Given the description of an element on the screen output the (x, y) to click on. 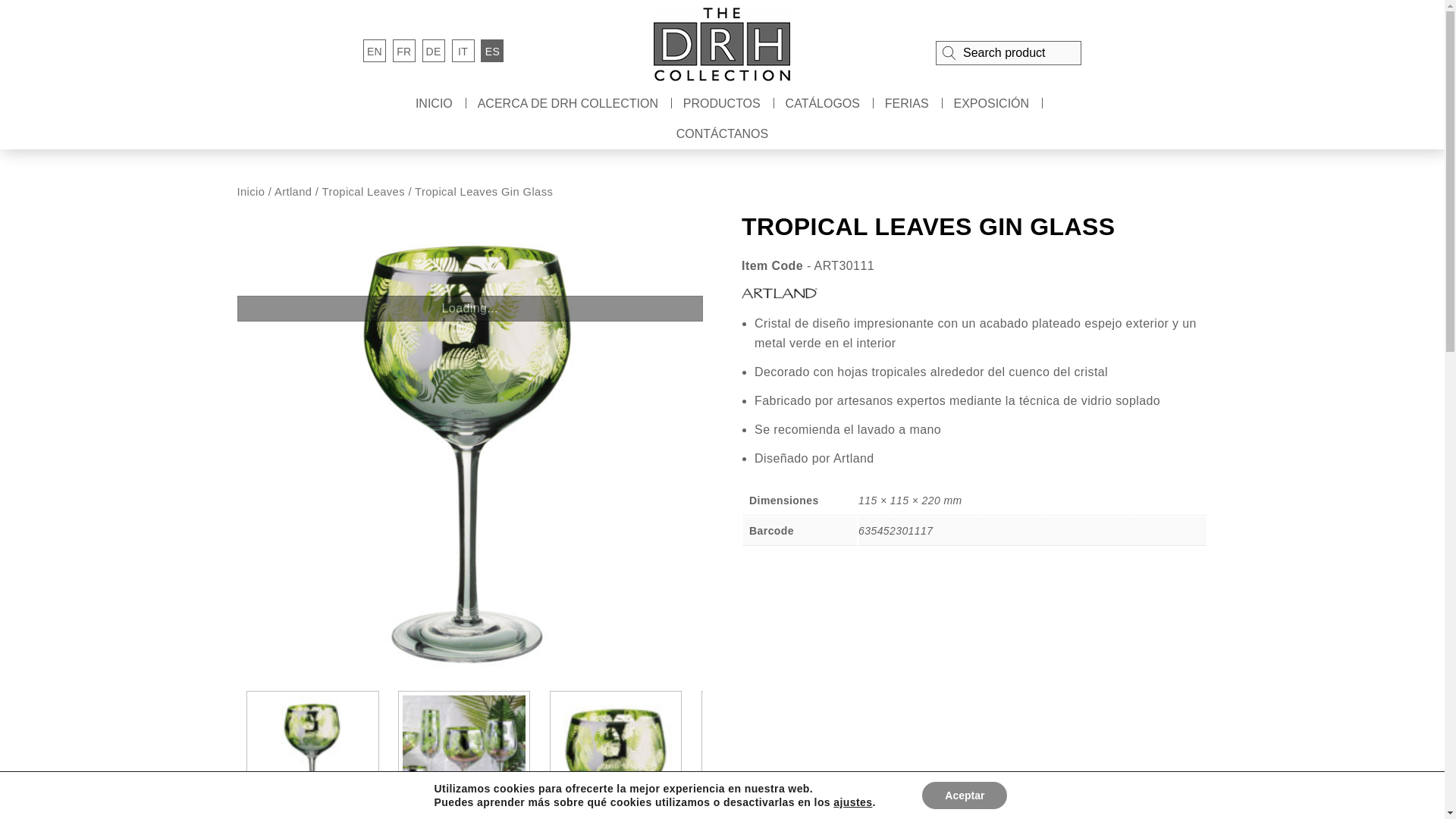
Dotted Egg Coddler (464, 756)
ART30111-3 (463, 755)
Dotted Egg Coddler (615, 756)
ES (491, 50)
ART30111-5 (766, 755)
ART30111-4 (615, 755)
IT (462, 50)
INICIO (433, 103)
Dotted Egg Coddler (312, 756)
ART30111 (312, 755)
Inicio (249, 191)
DE (433, 50)
The DRH Collection (721, 44)
FERIAS (907, 103)
